Given the description of an element on the screen output the (x, y) to click on. 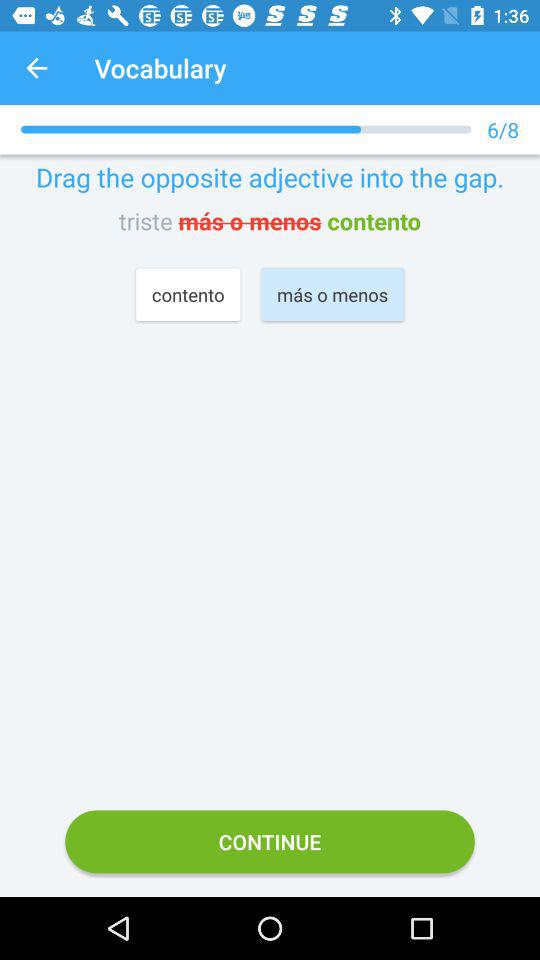
turn on the icon below the contento (269, 841)
